Given the description of an element on the screen output the (x, y) to click on. 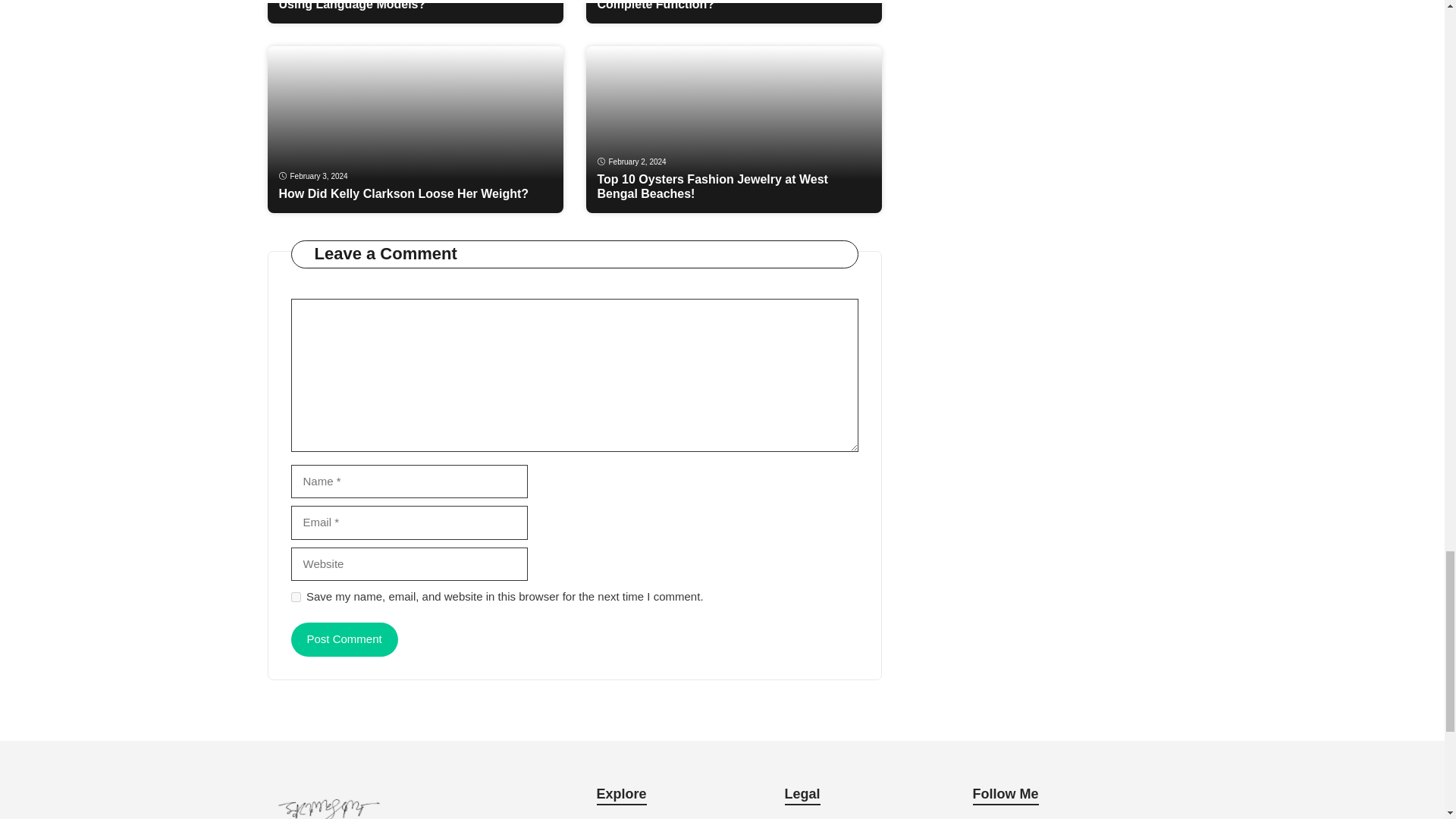
Post Comment (344, 639)
Post Comment (344, 639)
Surajit-Roy-Logo (327, 802)
yes (296, 596)
